Given the description of an element on the screen output the (x, y) to click on. 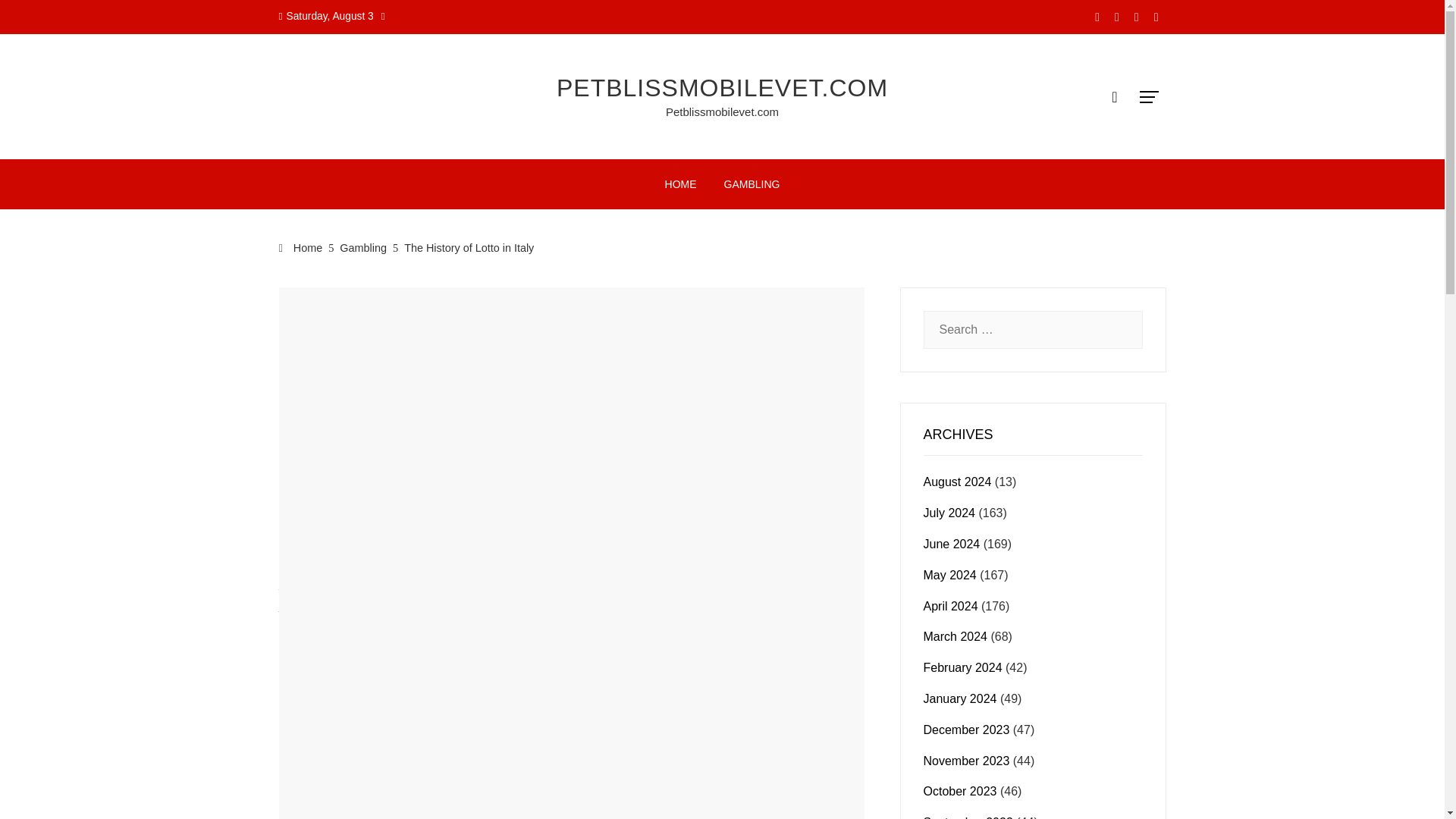
July 2024 (949, 512)
LIVE DRAW SGP HARI INI TERCEPAT (385, 574)
October 2023 (960, 790)
June 2024 (951, 543)
GAMBLING (304, 292)
Gambling (363, 247)
January 2024 (960, 698)
May 2024 (949, 574)
Petblissmobilevet.com (721, 111)
GAMBLING (752, 183)
Home (301, 247)
HOME (680, 183)
August 2024 (957, 481)
March 2024 (955, 635)
December 2023 (966, 729)
